Given the description of an element on the screen output the (x, y) to click on. 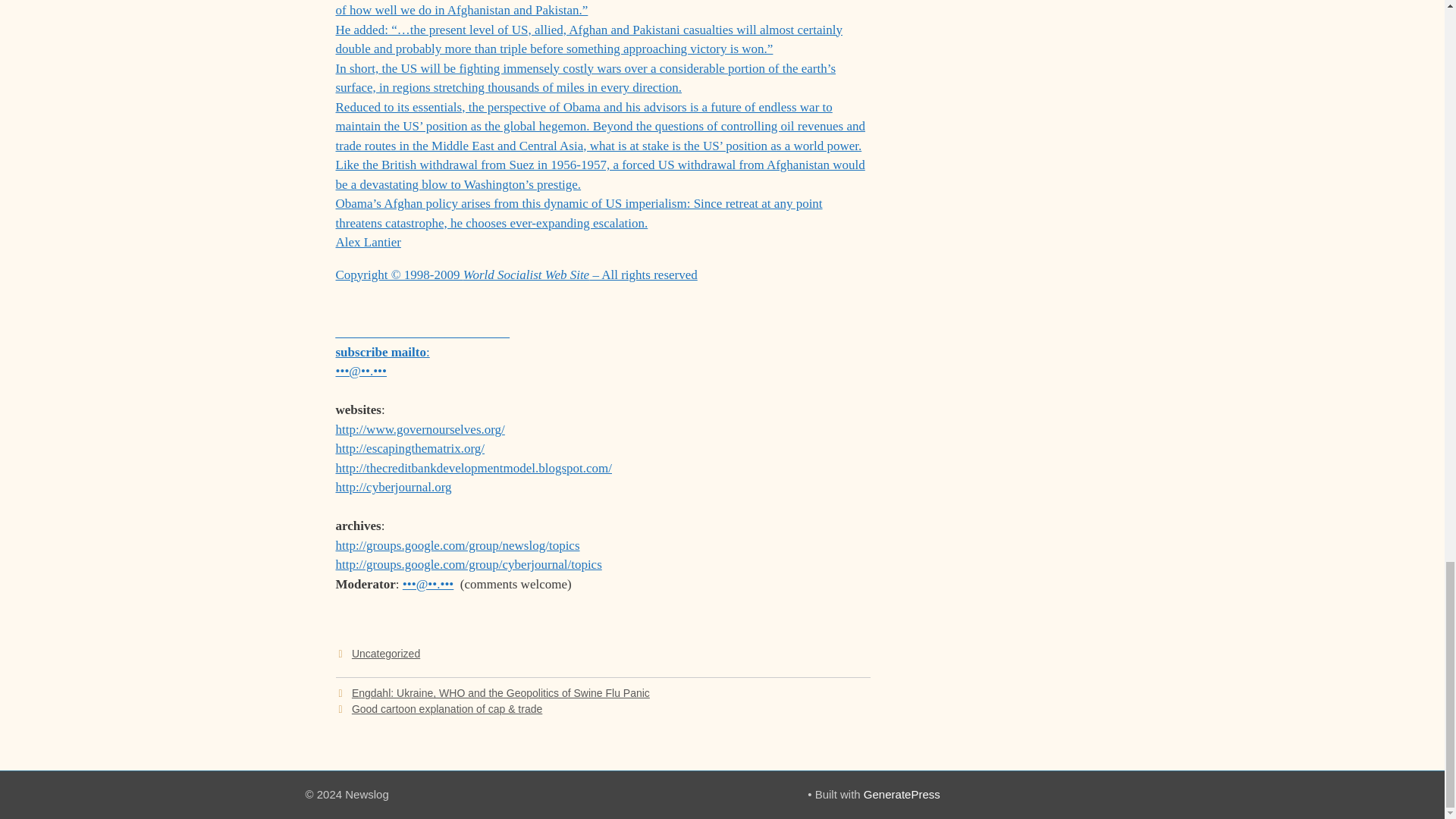
Engdahl: Ukraine, WHO and the Geopolitics of Swine Flu Panic (500, 693)
GeneratePress (901, 793)
Uncategorized (386, 653)
